Given the description of an element on the screen output the (x, y) to click on. 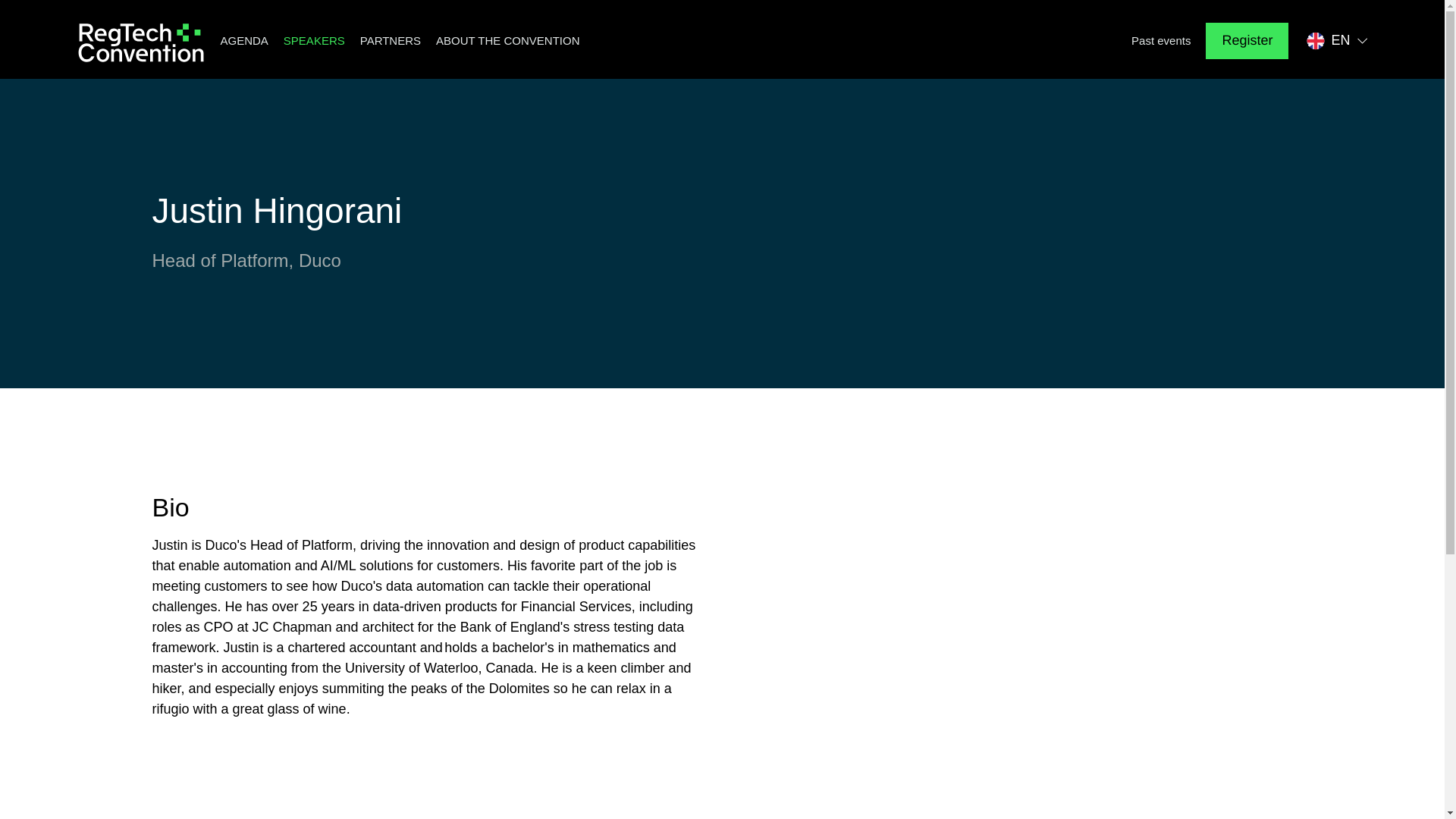
Past events (1161, 41)
AGENDA (243, 41)
EN (1337, 40)
Register (1246, 40)
SPEAKERS (314, 41)
ABOUT THE CONVENTION (507, 41)
PARTNERS (389, 41)
